Given the description of an element on the screen output the (x, y) to click on. 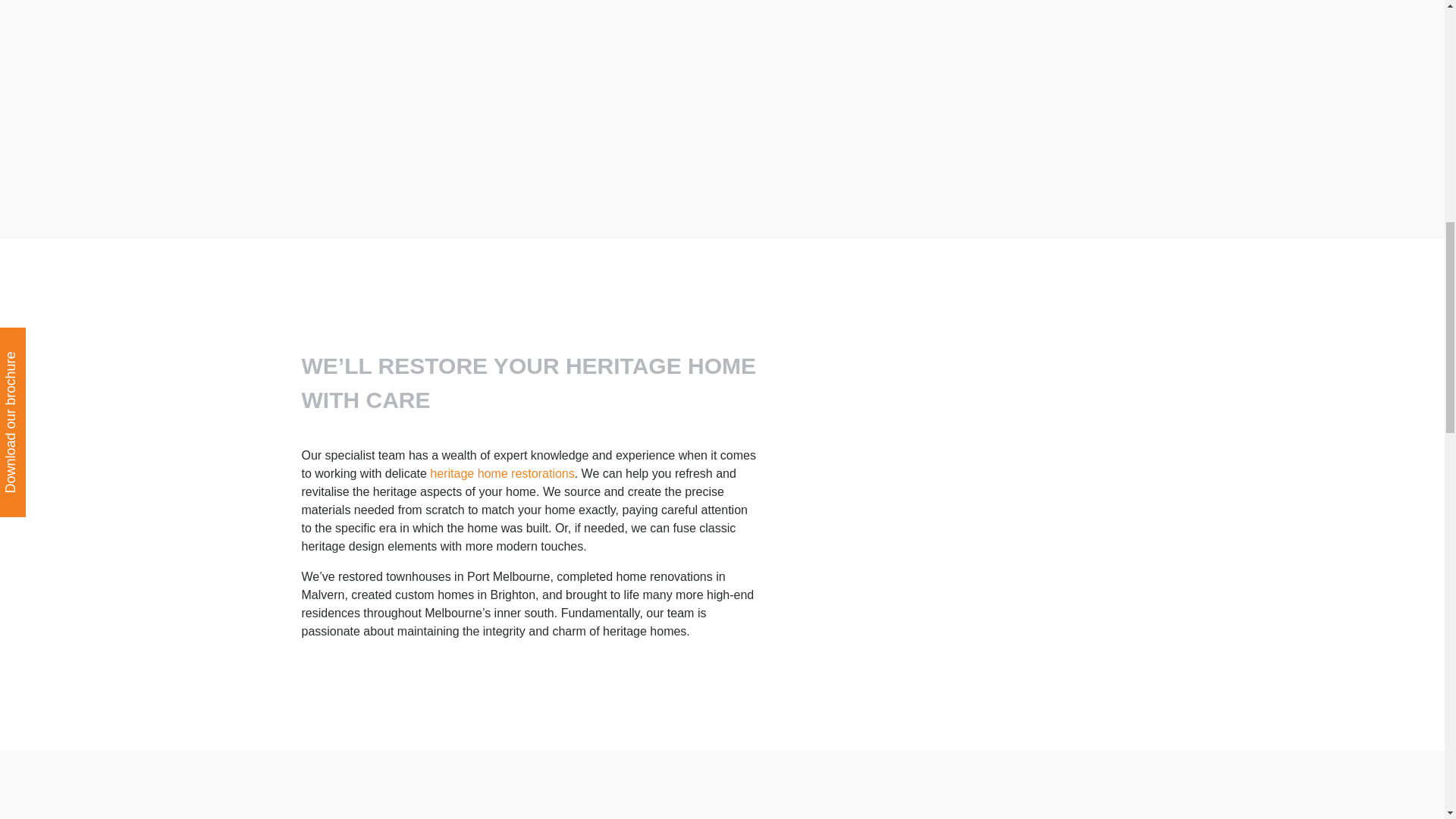
heritage home restorations (501, 472)
